Given the description of an element on the screen output the (x, y) to click on. 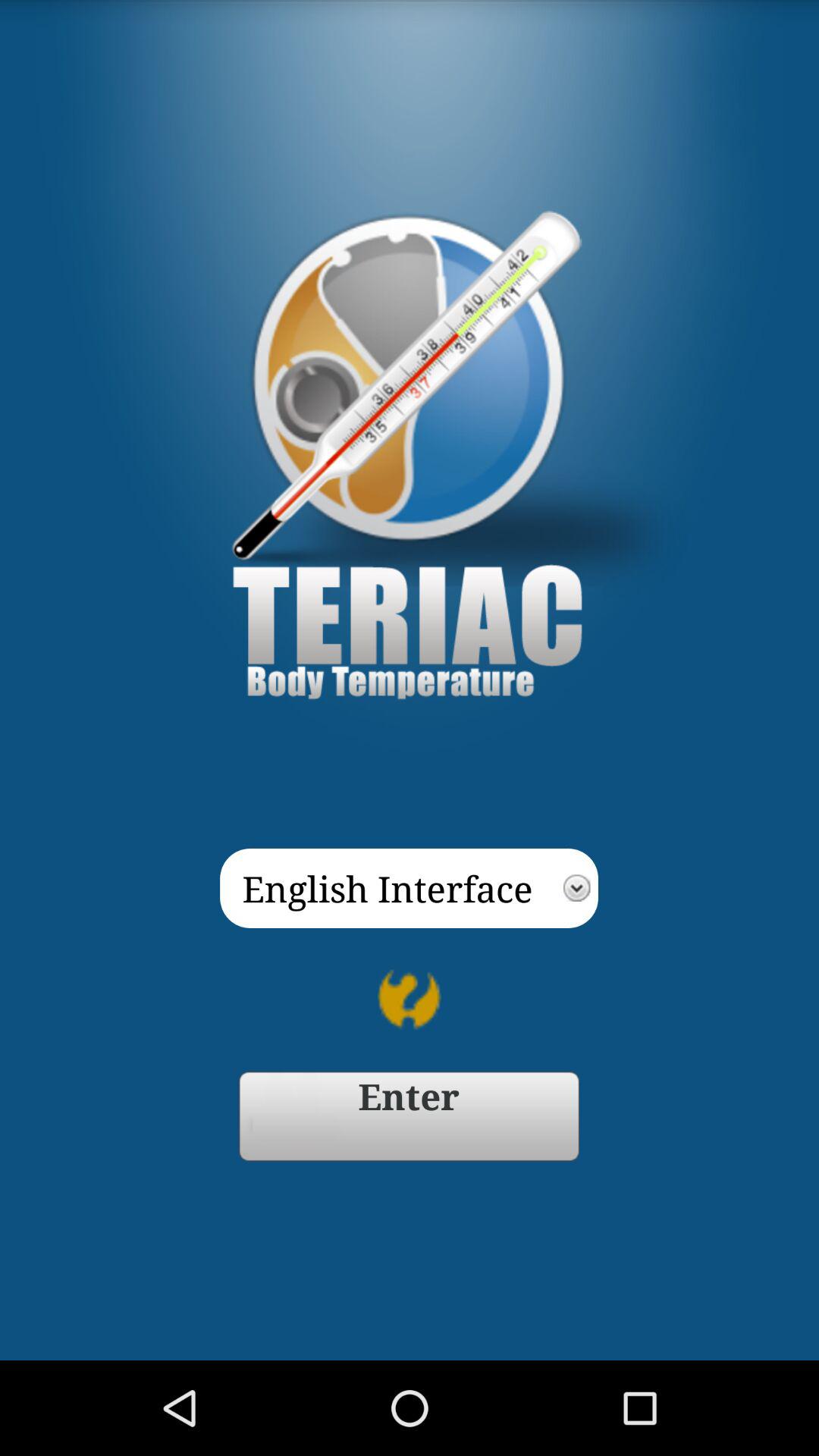
select help option (409, 999)
